Given the description of an element on the screen output the (x, y) to click on. 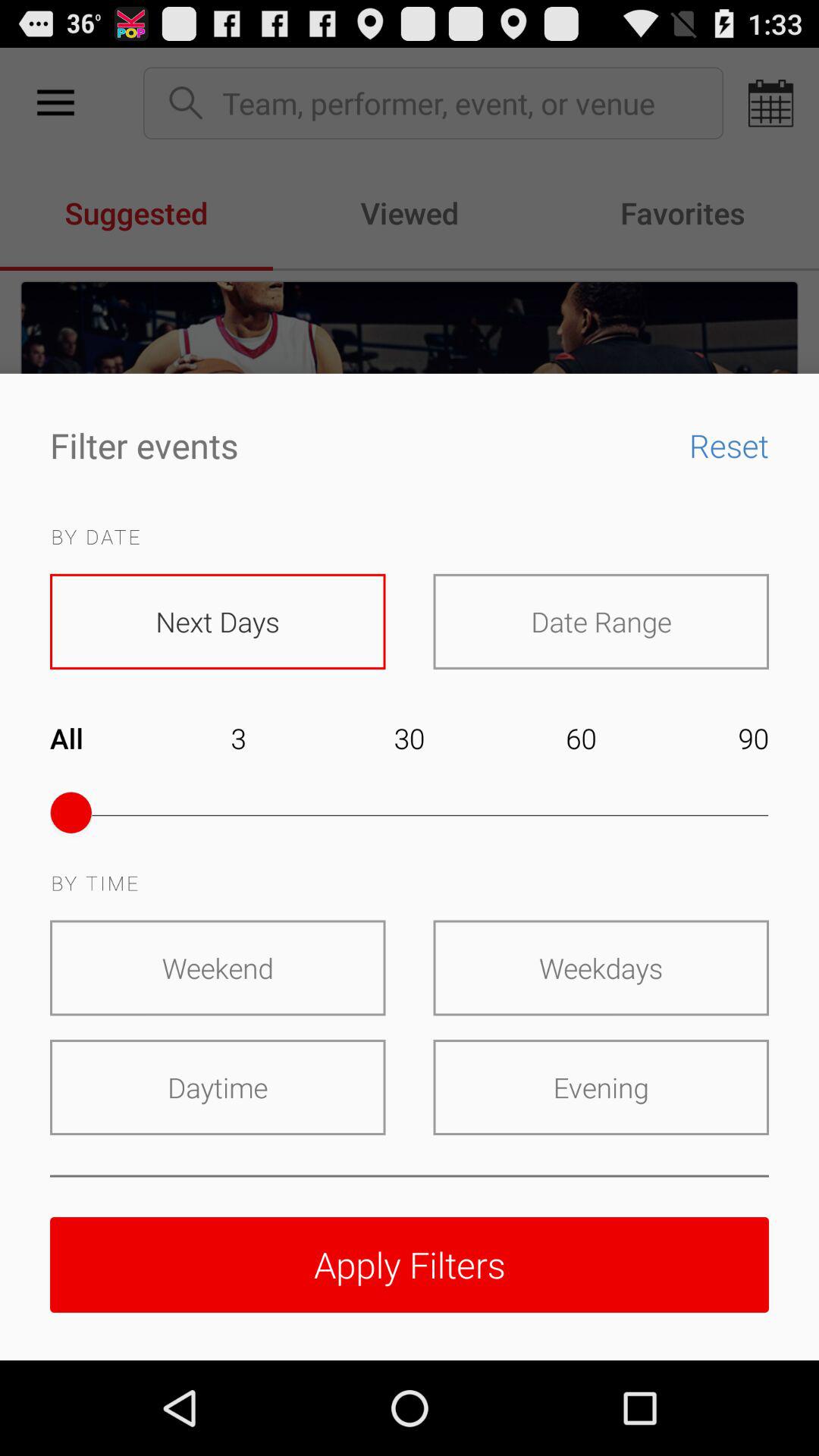
press the item above the daytime icon (217, 967)
